Given the description of an element on the screen output the (x, y) to click on. 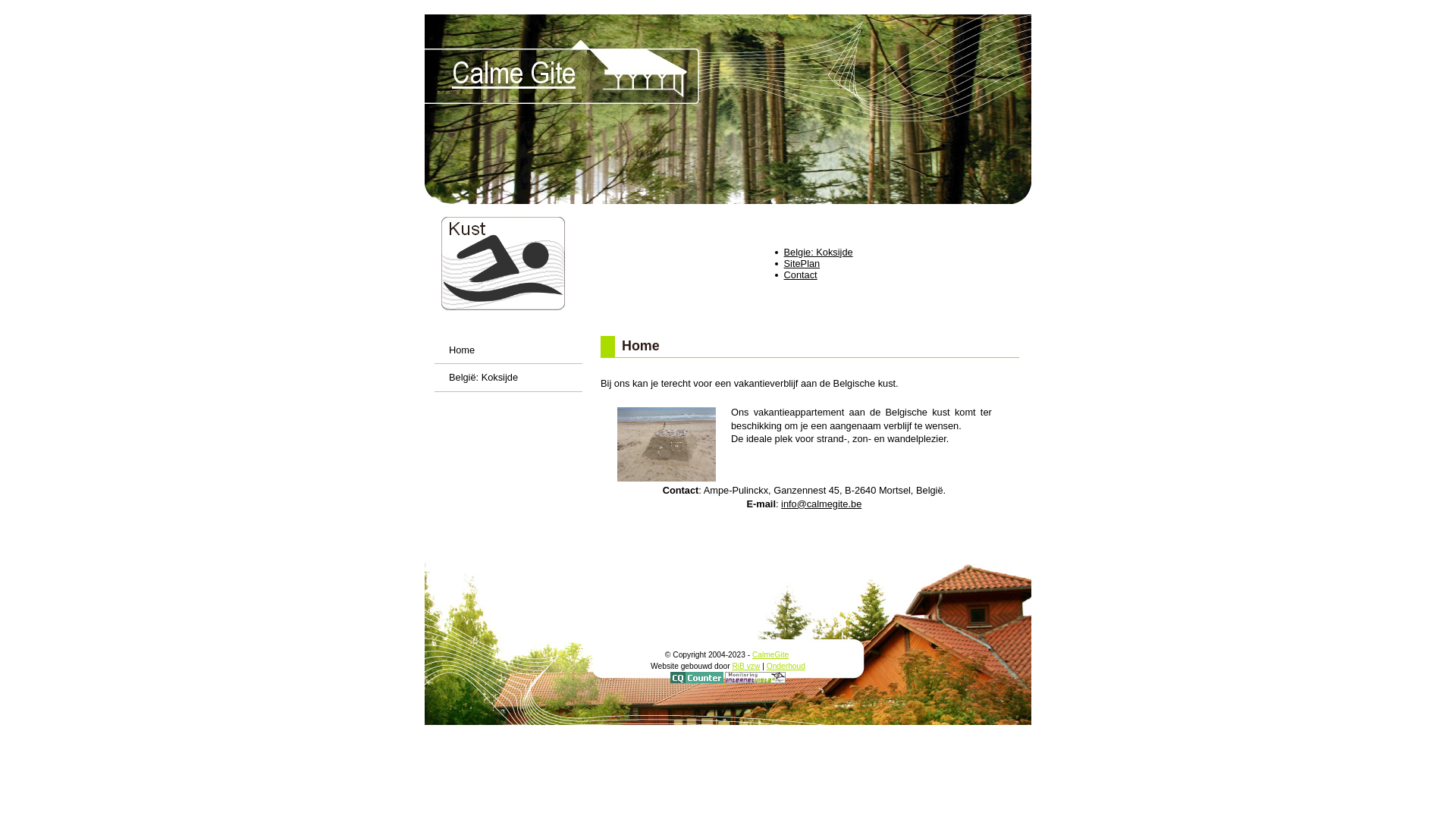
CalmeGite Element type: text (727, 108)
Hit Counter Element type: hover (697, 680)
CalmeGite Element type: text (770, 654)
Onderhoud Element type: text (785, 666)
Huur een vakantiewoning aan de Belgische kust Element type: hover (666, 444)
Contact Element type: text (800, 274)
RiB vzw Element type: text (745, 666)
Home Element type: text (508, 349)
info@calmegite.be Element type: text (821, 503)
Belgie: Koksijde Element type: text (818, 251)
SitePlan Element type: text (802, 263)
